Given the description of an element on the screen output the (x, y) to click on. 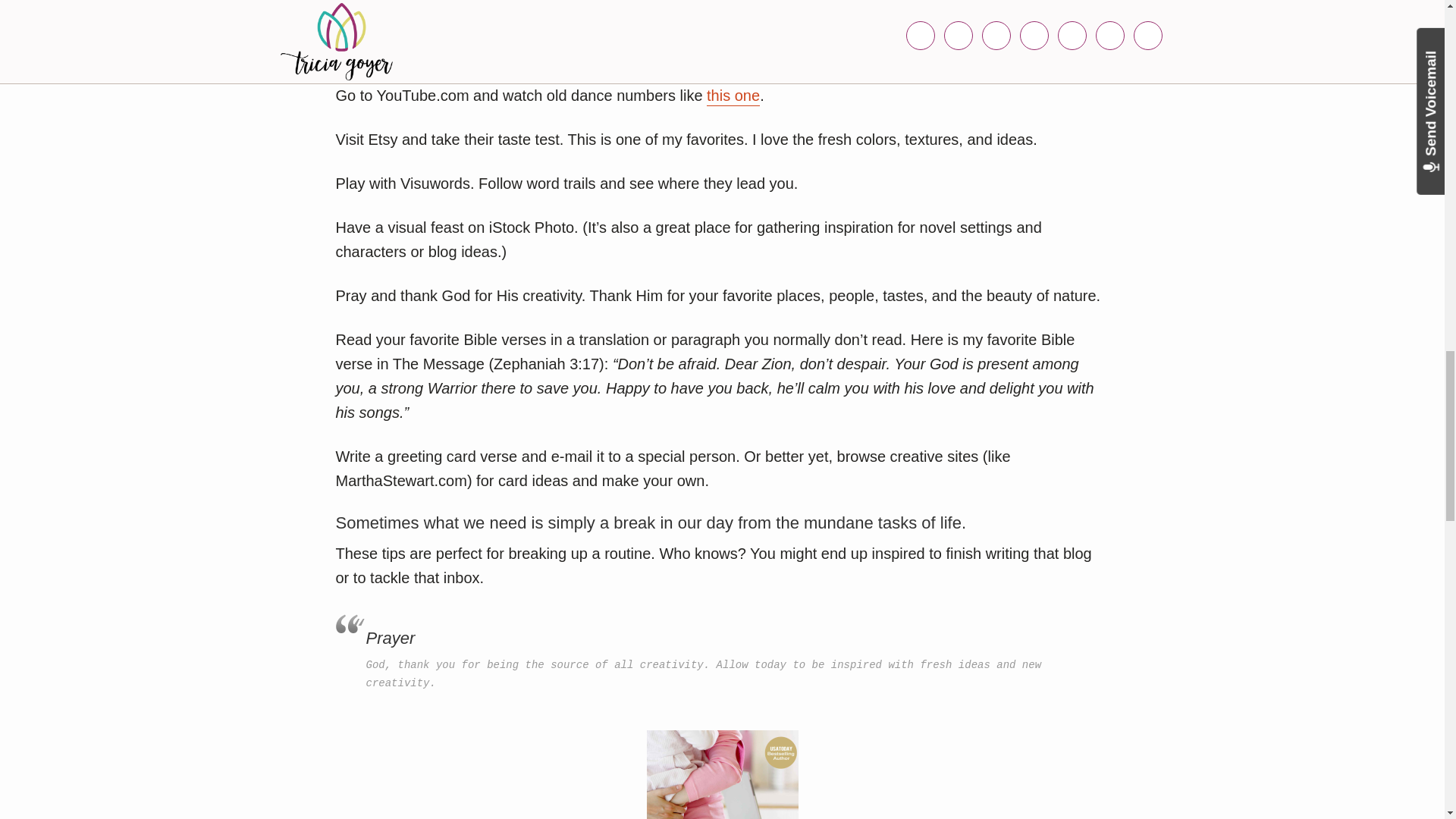
this one (733, 96)
